Given the description of an element on the screen output the (x, y) to click on. 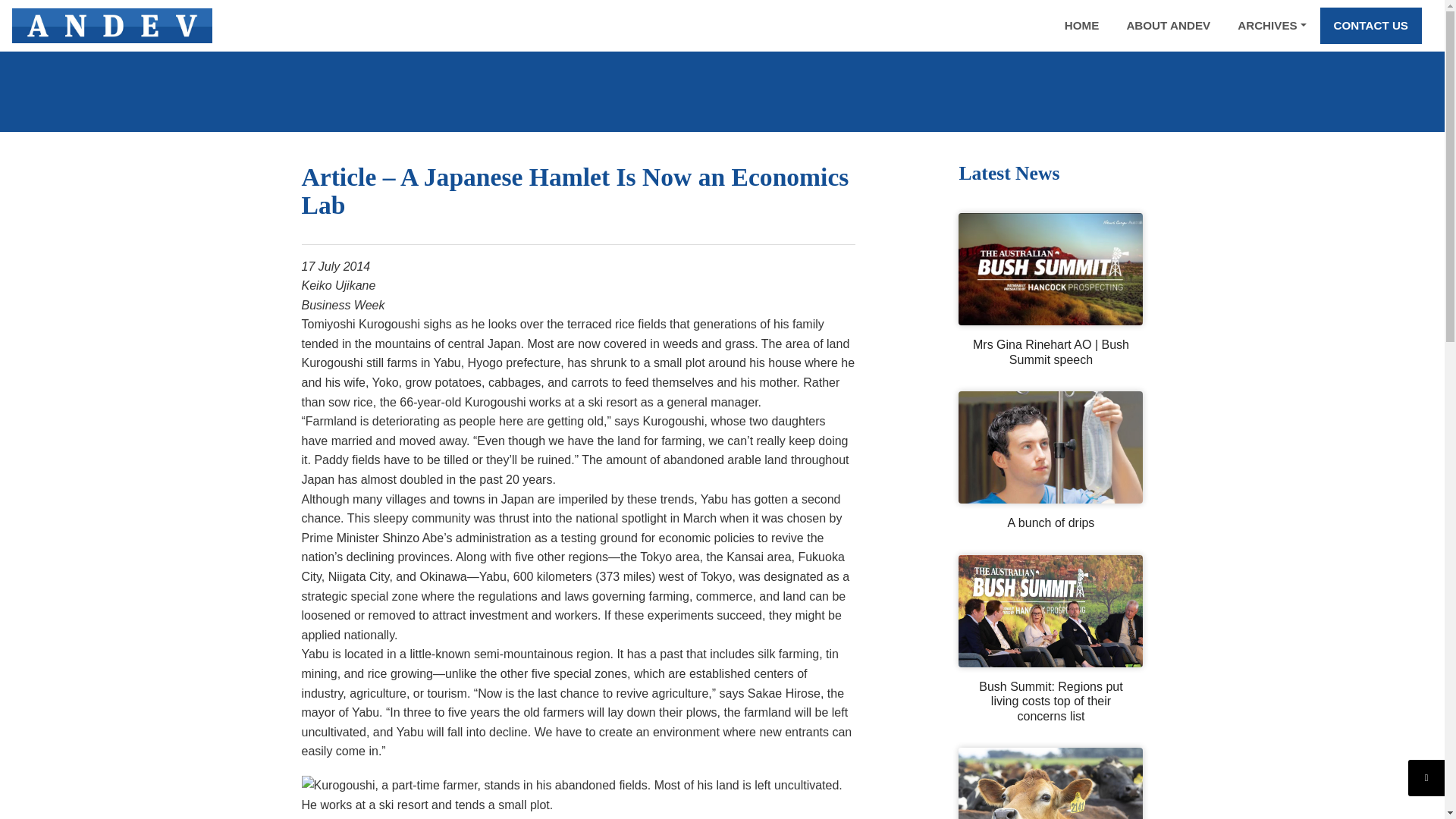
Archives (1271, 25)
ARCHIVES (1271, 25)
About ANDEV (1168, 25)
Home (1082, 25)
A bunch of drips (1050, 522)
HOME (1082, 25)
ABOUT ANDEV (1168, 25)
CONTACT US (1371, 25)
